Given the description of an element on the screen output the (x, y) to click on. 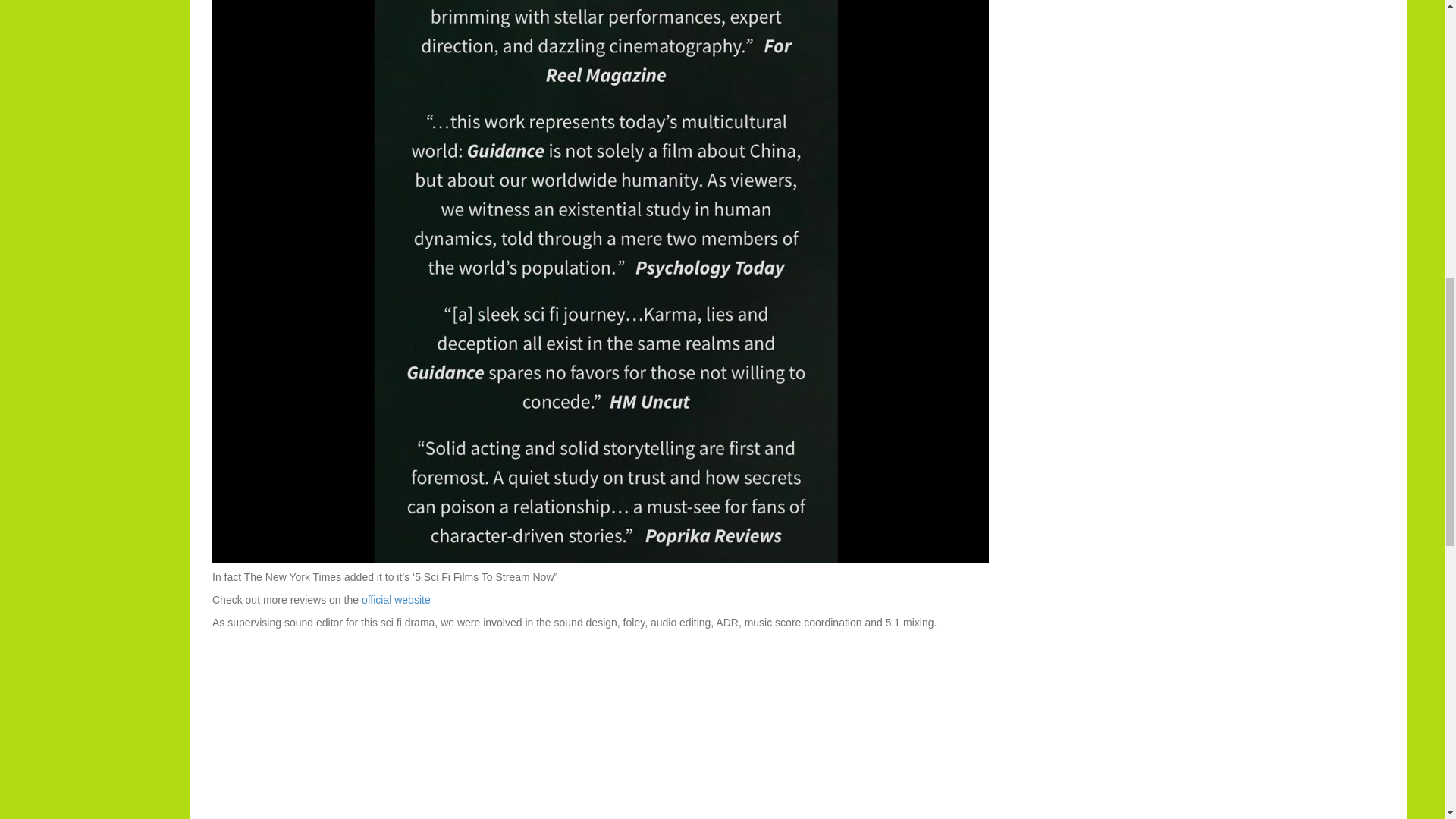
official website (395, 599)
